Given the description of an element on the screen output the (x, y) to click on. 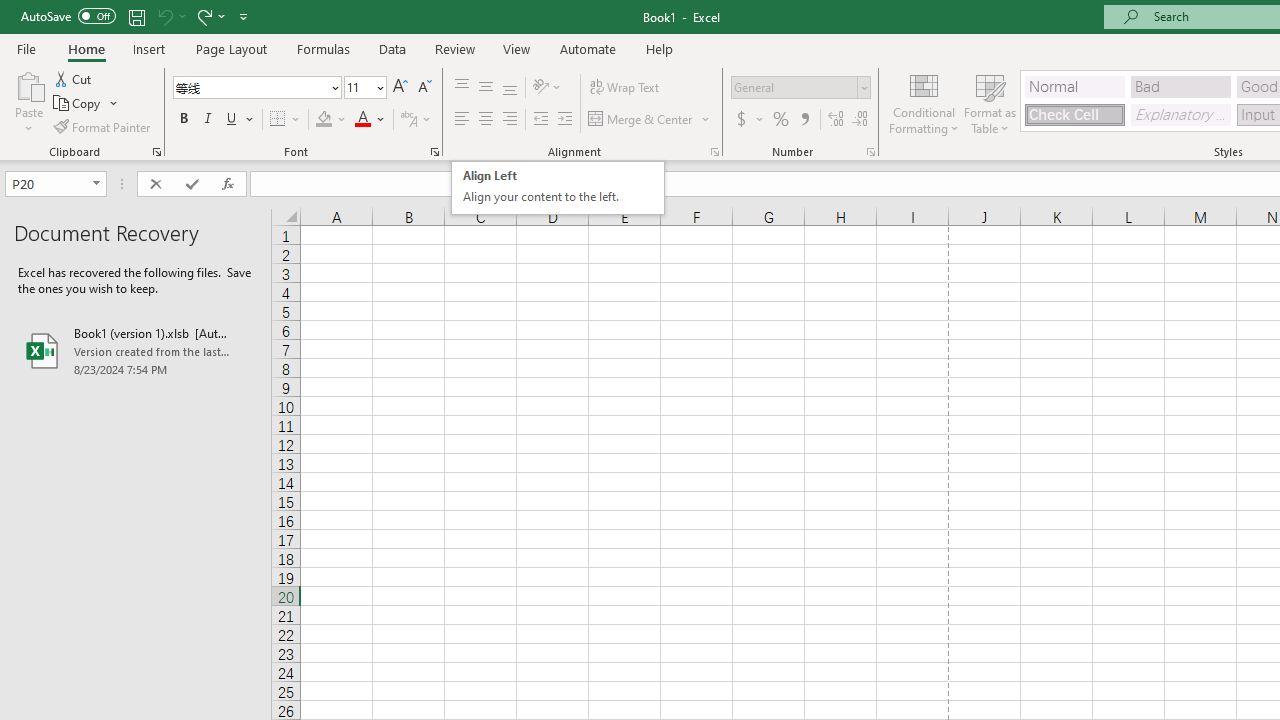
Copy (85, 103)
Orientation (547, 87)
Font Color RGB(255, 0, 0) (362, 119)
Merge & Center (649, 119)
Paste (28, 84)
Paste (28, 102)
Increase Font Size (399, 87)
Increase Decimal (836, 119)
Center (485, 119)
Align Right (509, 119)
Office Clipboard... (156, 151)
